Given the description of an element on the screen output the (x, y) to click on. 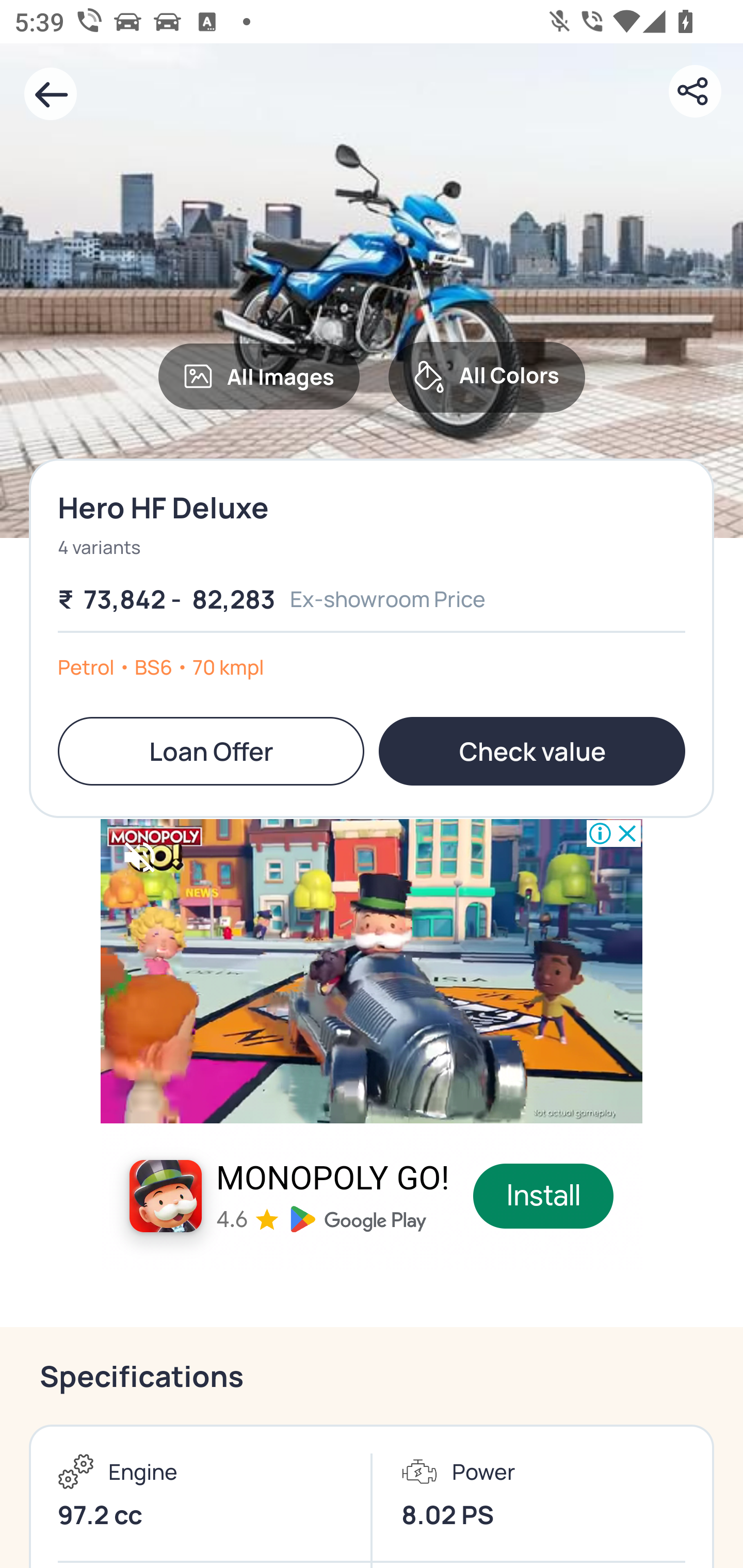
All Colors (486, 376)
All Images (258, 376)
Loan Offer (210, 750)
Check value (531, 750)
Install (543, 1195)
